Given the description of an element on the screen output the (x, y) to click on. 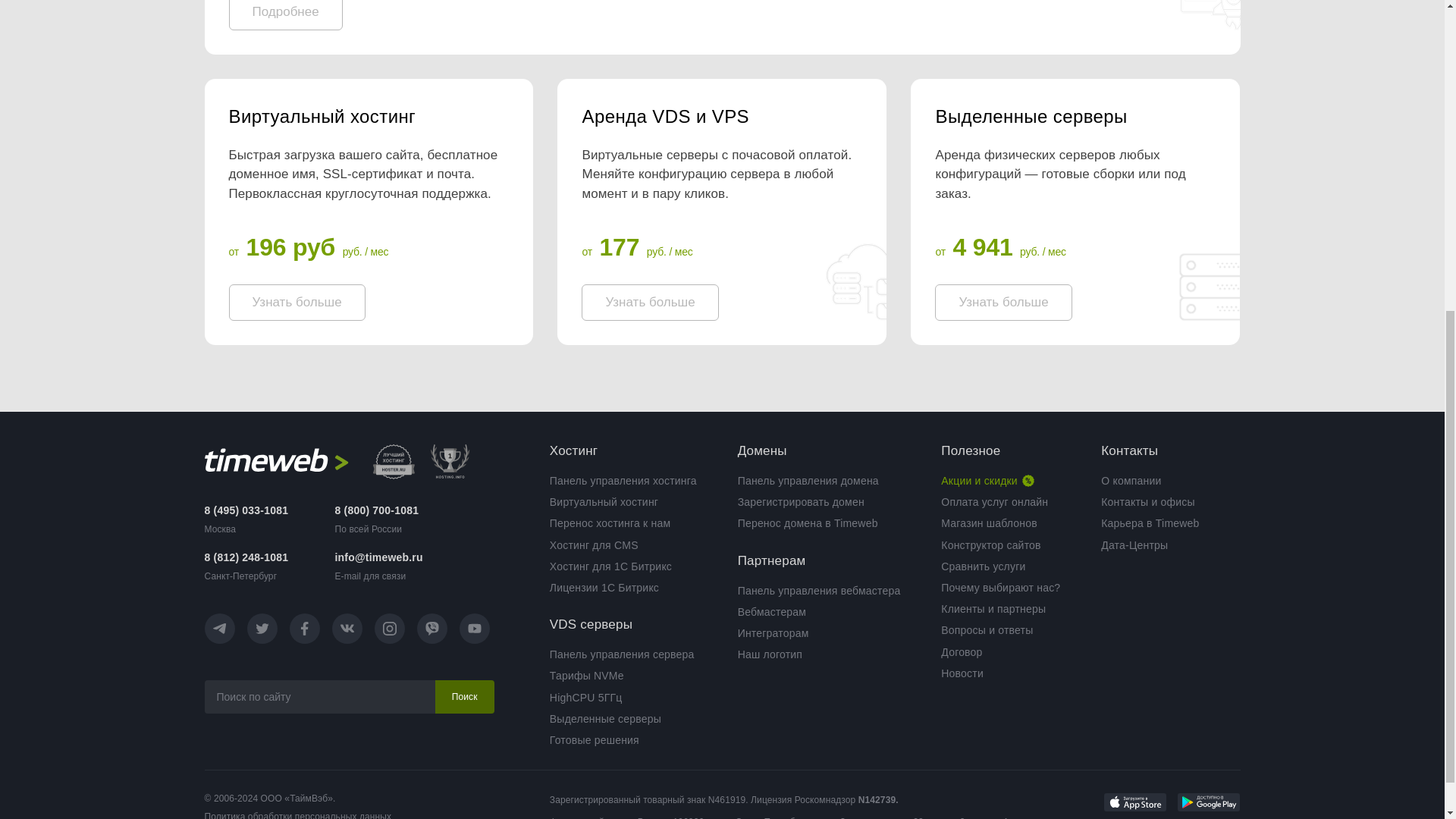
VDS (720, 116)
